Given the description of an element on the screen output the (x, y) to click on. 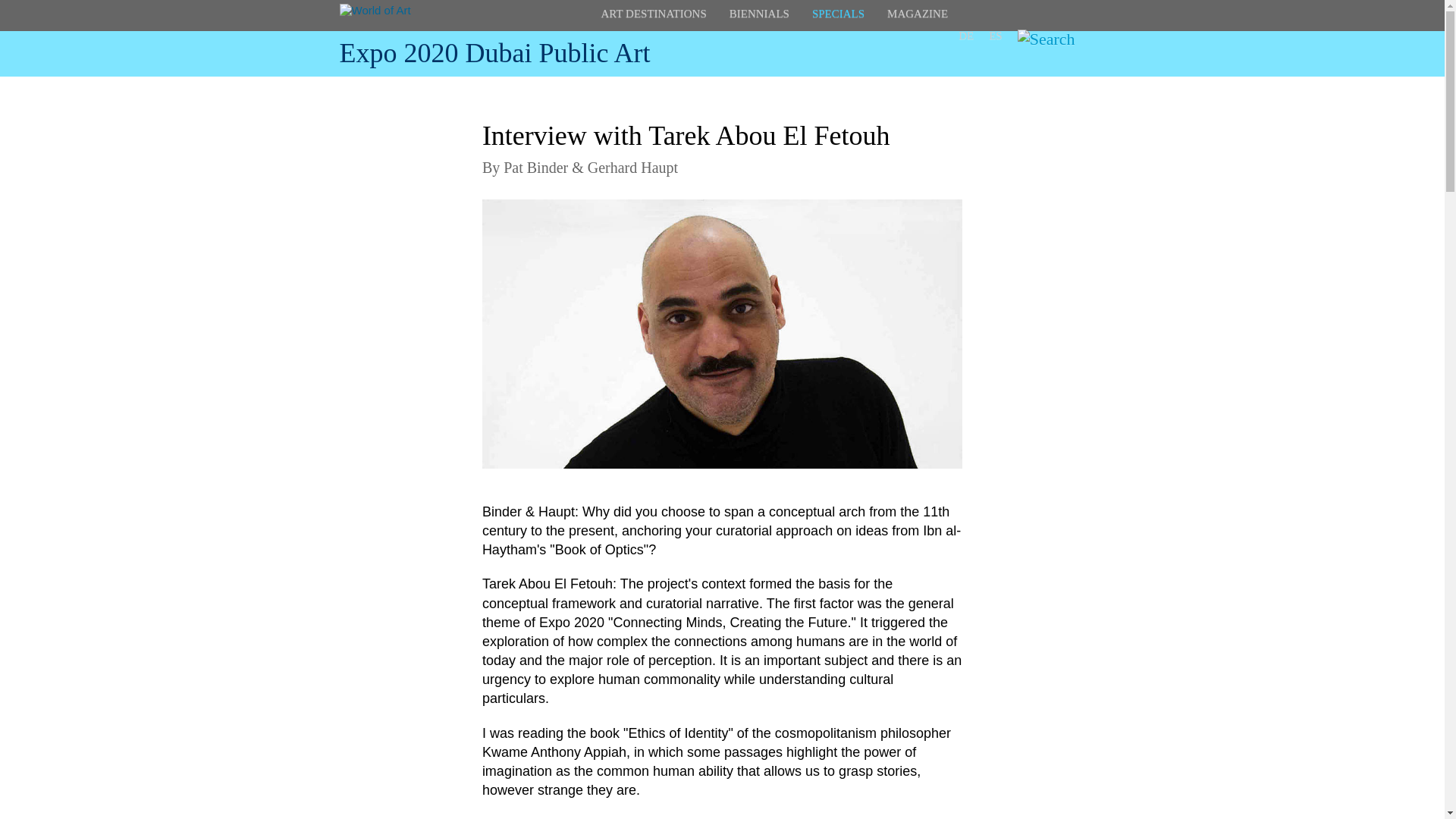
Expo 2020 Dubai Public Art (494, 52)
BIENNIALS (759, 13)
ES (995, 34)
Tarek Abou El Fetouh (721, 333)
Magazine. Universes in Universe (916, 13)
DE (966, 34)
Specials (838, 13)
SPECIALS (838, 13)
Biennials (759, 13)
ART DESTINATIONS (652, 13)
